Given the description of an element on the screen output the (x, y) to click on. 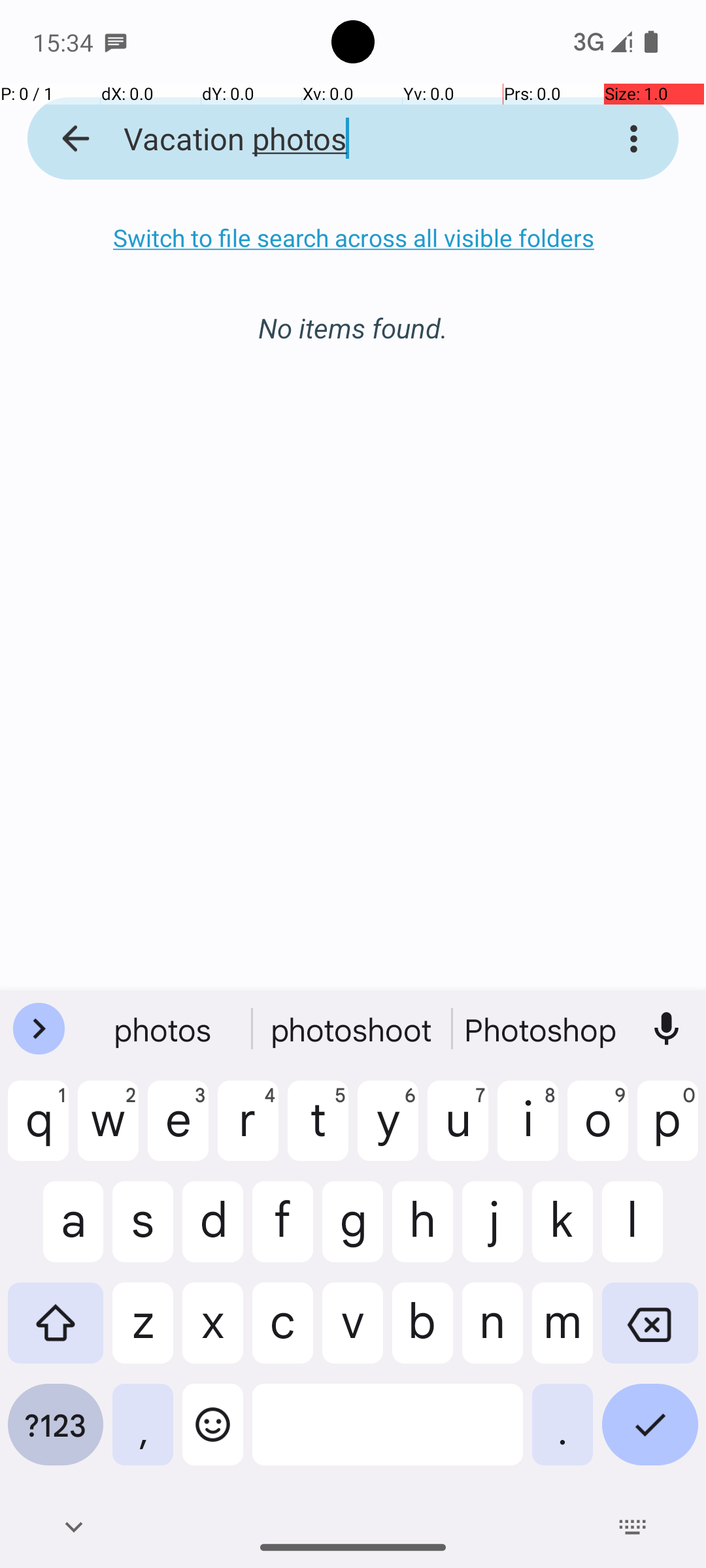
Switch to file search across all visible folders Element type: android.widget.TextView (353, 237)
No items found. Element type: android.widget.TextView (353, 313)
Vacation photos Element type: android.widget.EditText (335, 138)
photos Element type: android.widget.FrameLayout (163, 1028)
photoBeachs Element type: android.widget.FrameLayout (541, 1028)
